Given the description of an element on the screen output the (x, y) to click on. 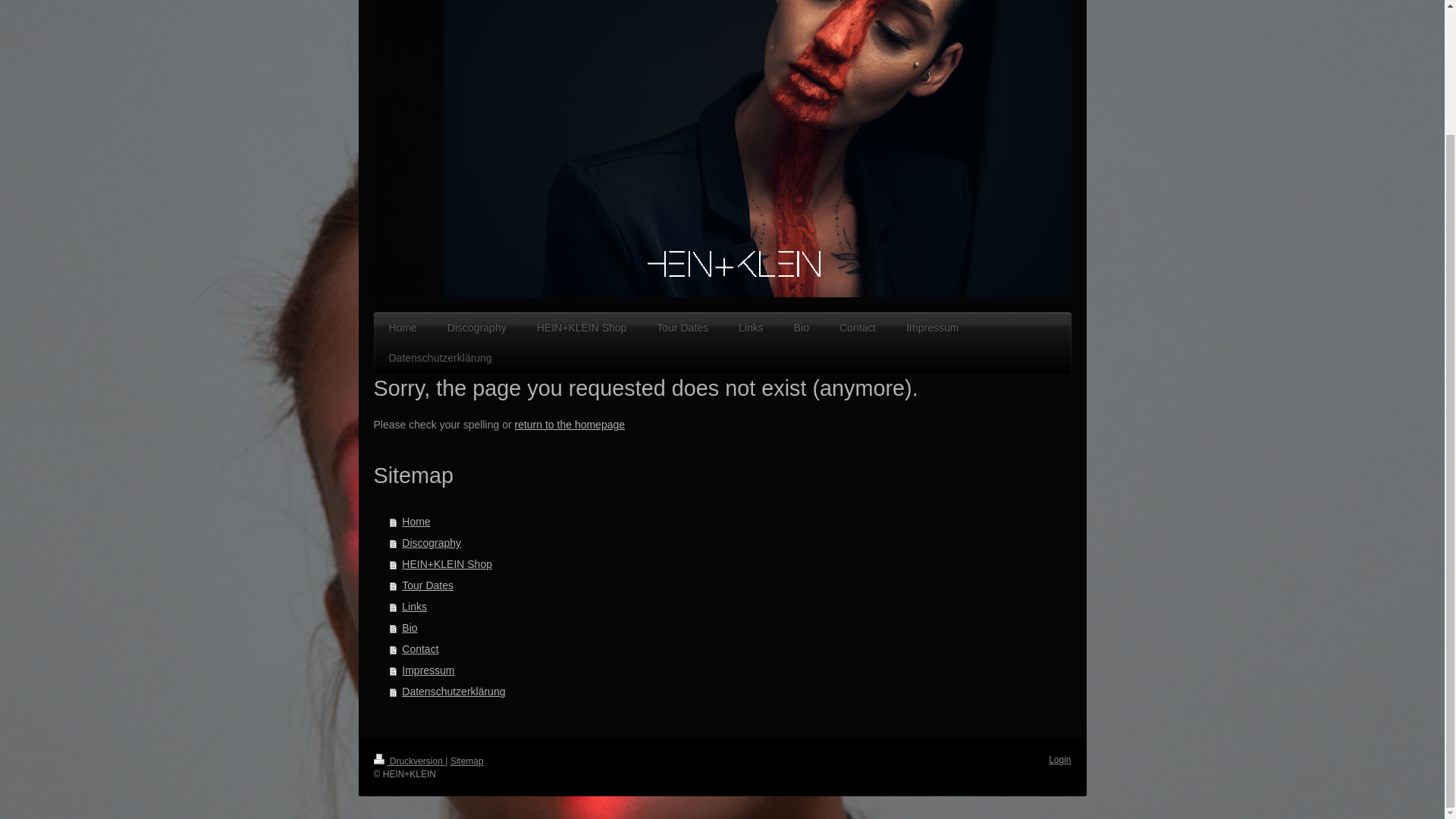
Tour Dates (682, 327)
Druckversion (408, 760)
Bio (730, 627)
Tour Dates (730, 585)
Home (401, 327)
Discography (730, 542)
Sitemap (466, 760)
Home (730, 521)
Discography (476, 327)
Contact (857, 327)
